Given the description of an element on the screen output the (x, y) to click on. 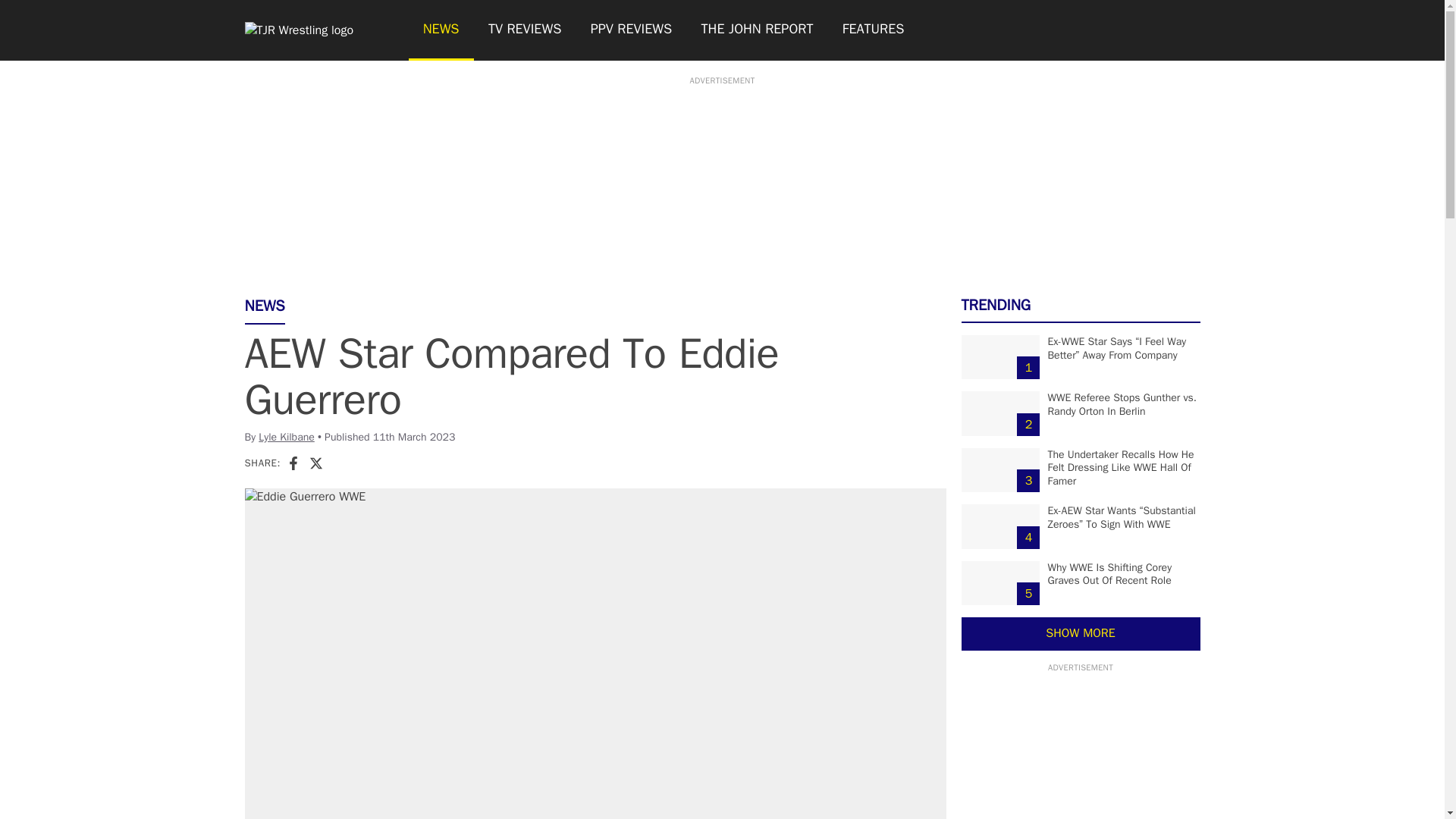
X (315, 462)
NEWS (440, 30)
PPV REVIEWS (631, 30)
Facebook (292, 463)
X (315, 463)
Facebook (292, 462)
Lyle Kilbane (286, 436)
THE JOHN REPORT (756, 30)
TV REVIEWS (525, 30)
FEATURES (873, 30)
